Given the description of an element on the screen output the (x, y) to click on. 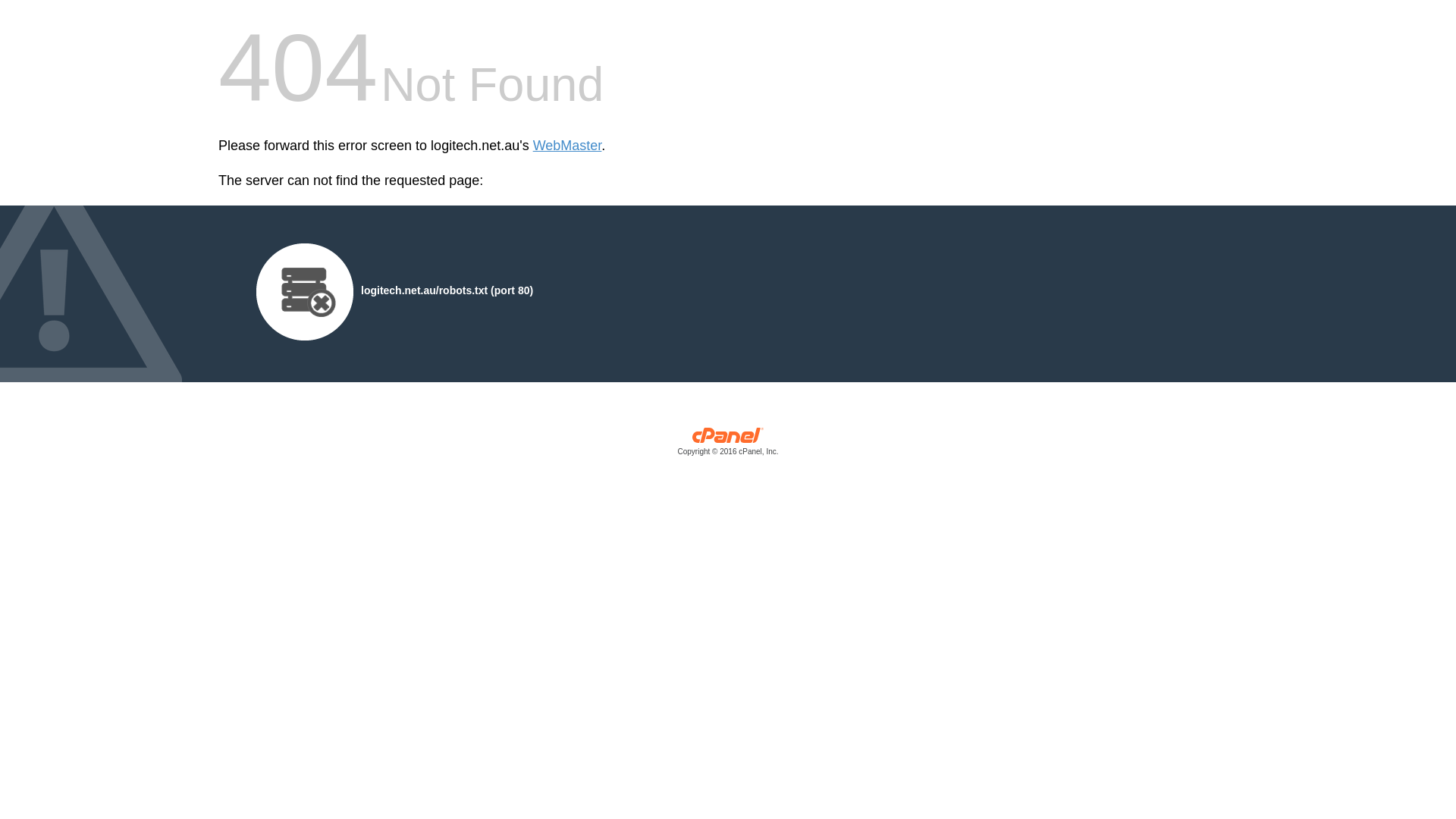
WebMaster Element type: text (567, 145)
